Given the description of an element on the screen output the (x, y) to click on. 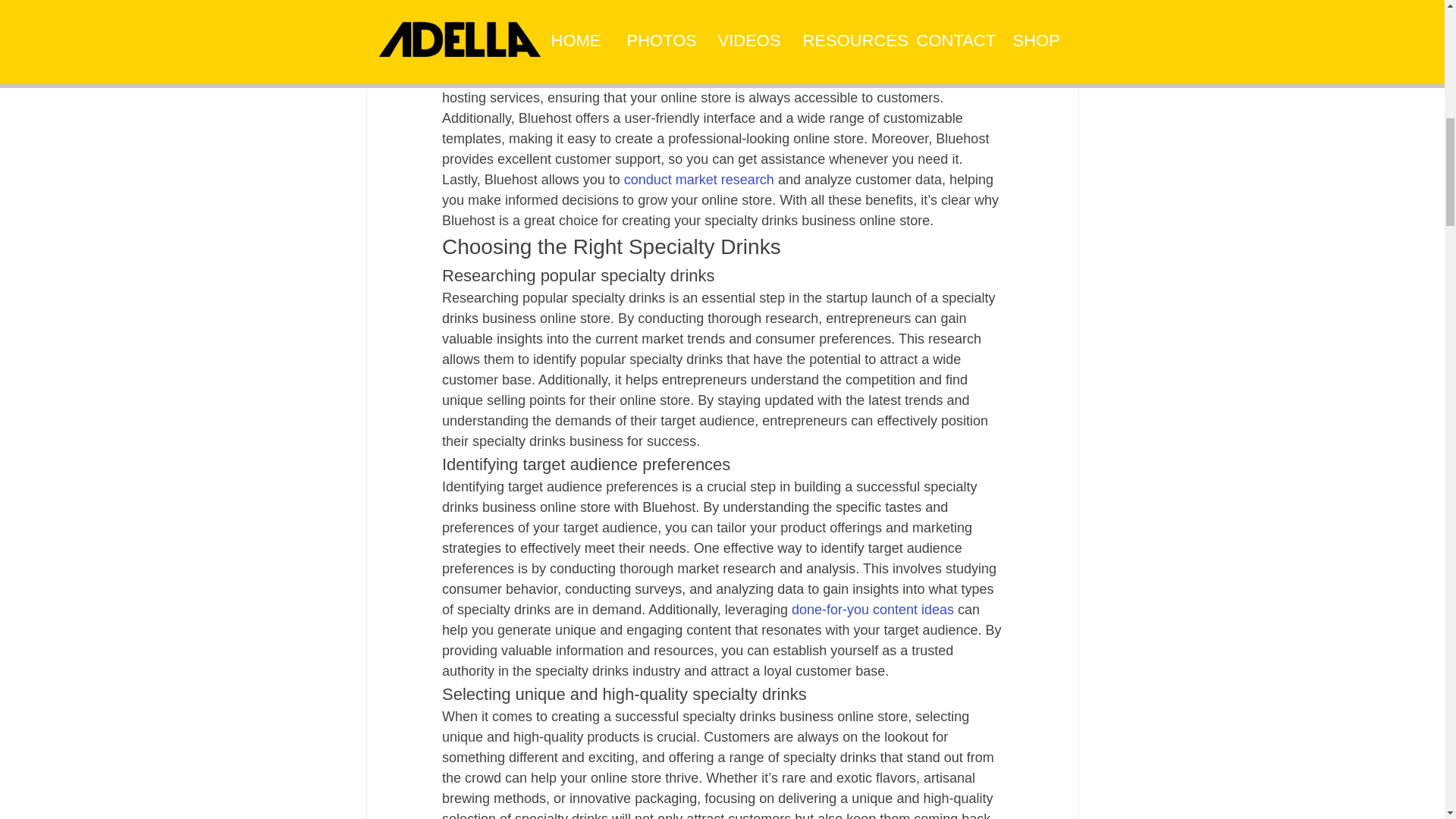
done-for-you content ideas (871, 609)
conduct market research (698, 179)
